Given the description of an element on the screen output the (x, y) to click on. 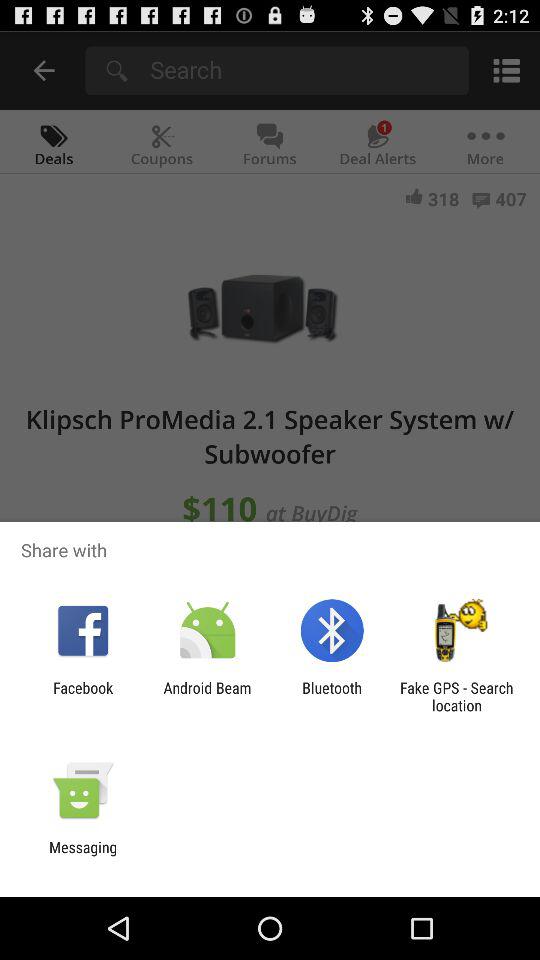
swipe until fake gps search app (456, 696)
